Given the description of an element on the screen output the (x, y) to click on. 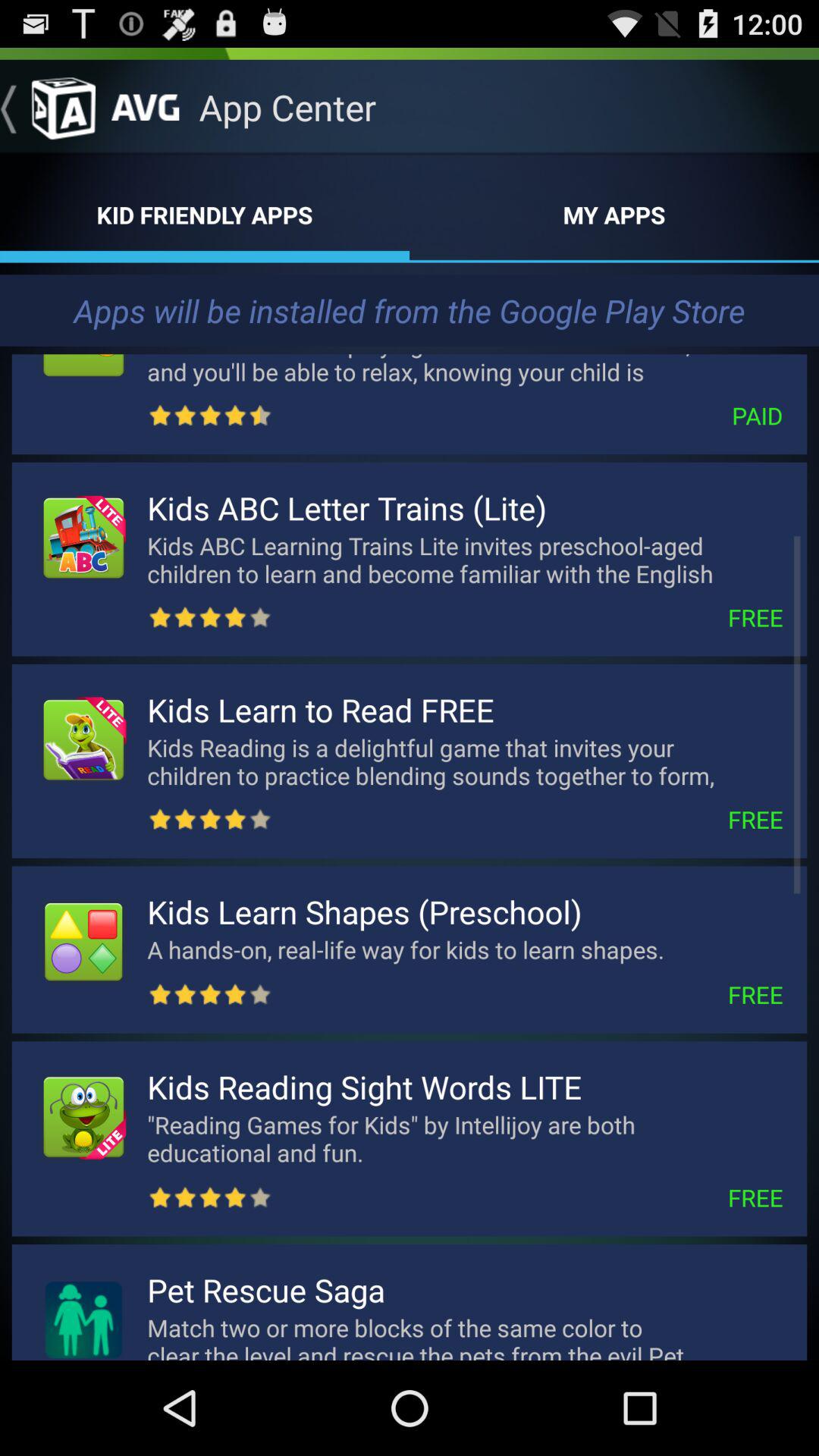
tap the icon below kids learn shapes (437, 949)
